Given the description of an element on the screen output the (x, y) to click on. 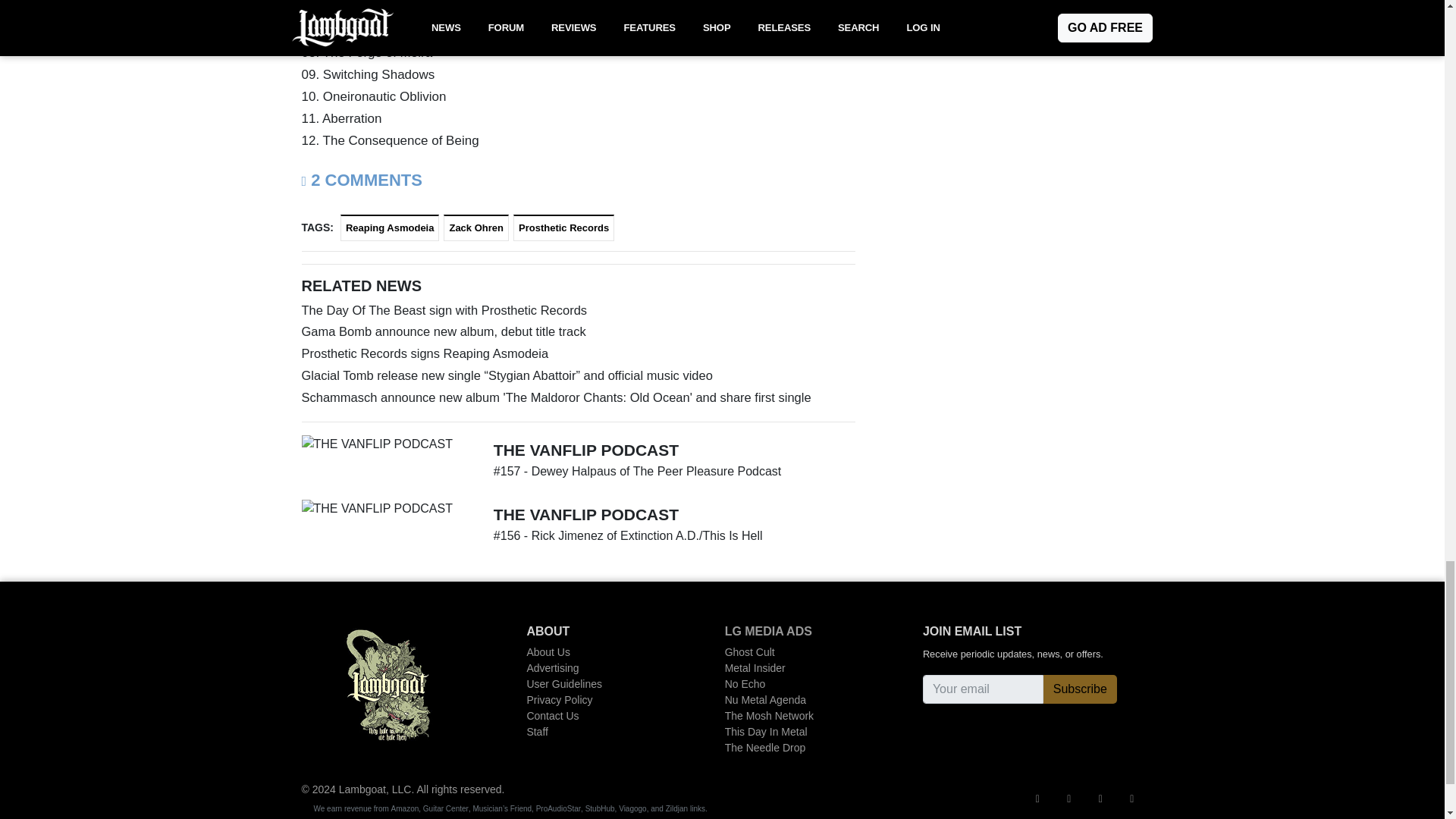
Prosthetic Records (563, 227)
Reaping Asmodeia (389, 227)
Prosthetic Records signs Reaping Asmodeia (578, 353)
Zack Ohren (476, 227)
Subscribe (1079, 688)
The Day Of The Beast sign with Prosthetic Records (578, 310)
Gama Bomb announce new album, debut title track (578, 331)
Advertising (586, 668)
2 COMMENTS (361, 179)
